Given the description of an element on the screen output the (x, y) to click on. 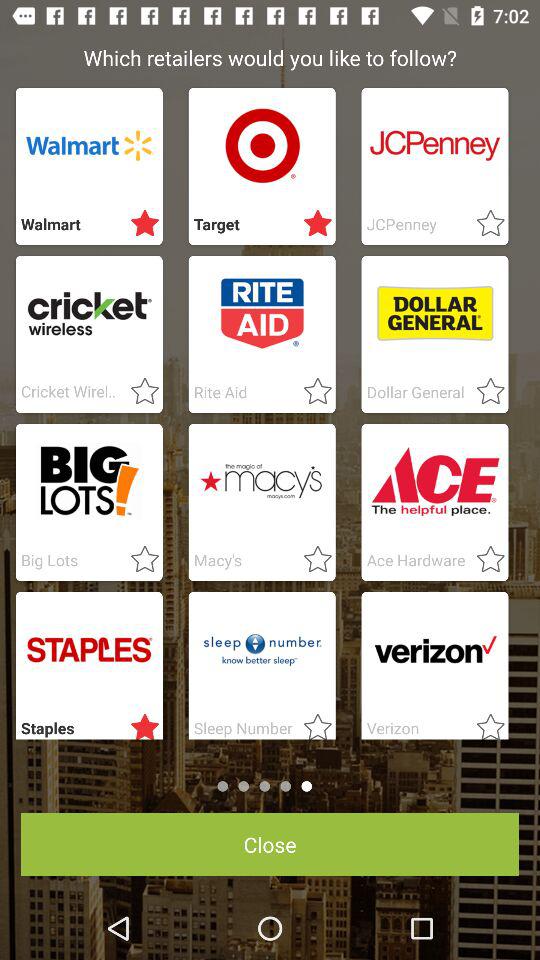
start option (139, 560)
